Given the description of an element on the screen output the (x, y) to click on. 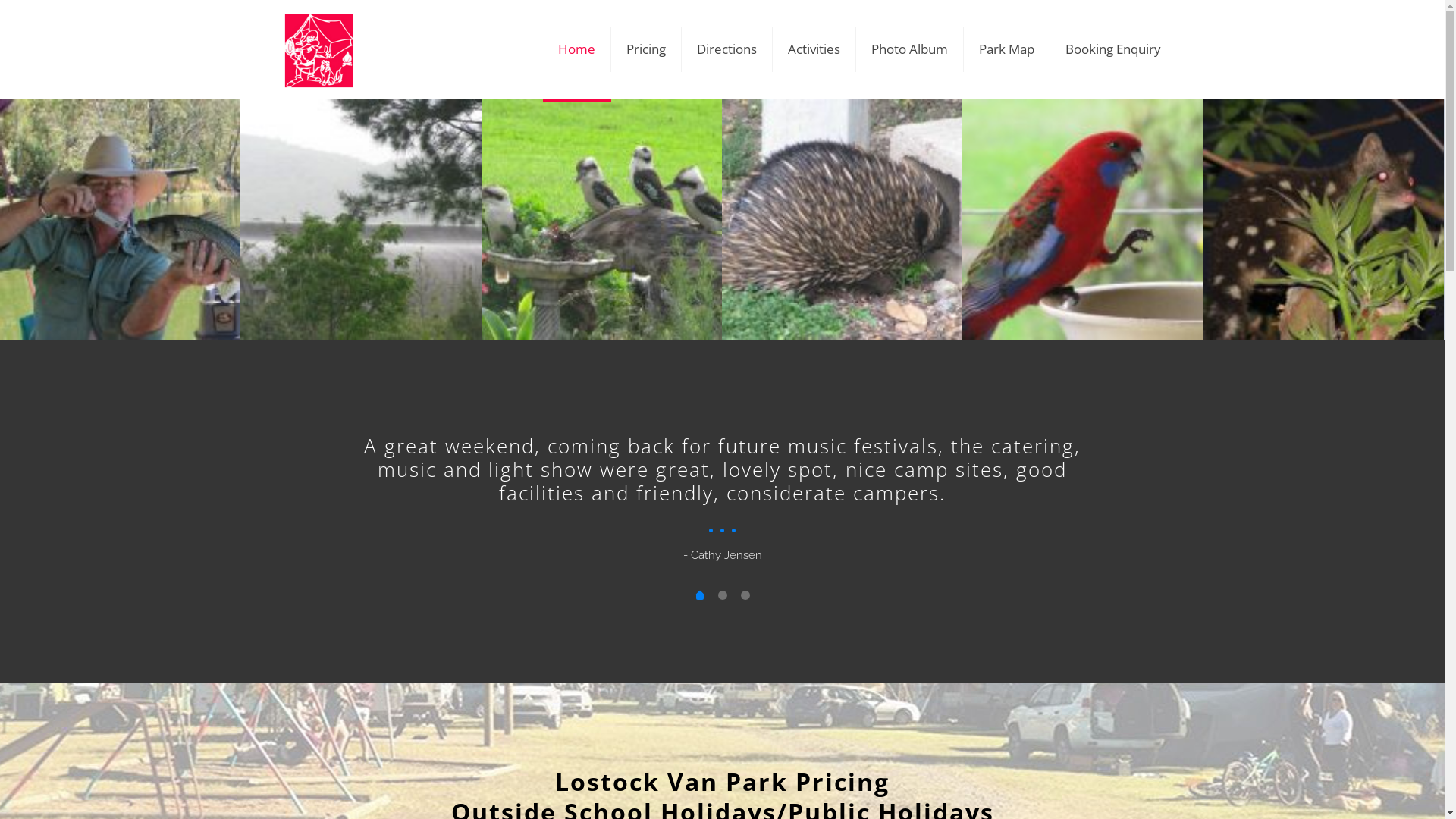
Pricing Element type: text (646, 49)
Photo Album Element type: text (909, 49)
Directions Element type: text (725, 49)
Booking Enquiry Element type: text (1112, 49)
Lostock Dam Caravan Park Element type: hover (318, 49)
Home Element type: text (576, 49)
Park Map Element type: text (1006, 49)
Activities Element type: text (813, 49)
